Given the description of an element on the screen output the (x, y) to click on. 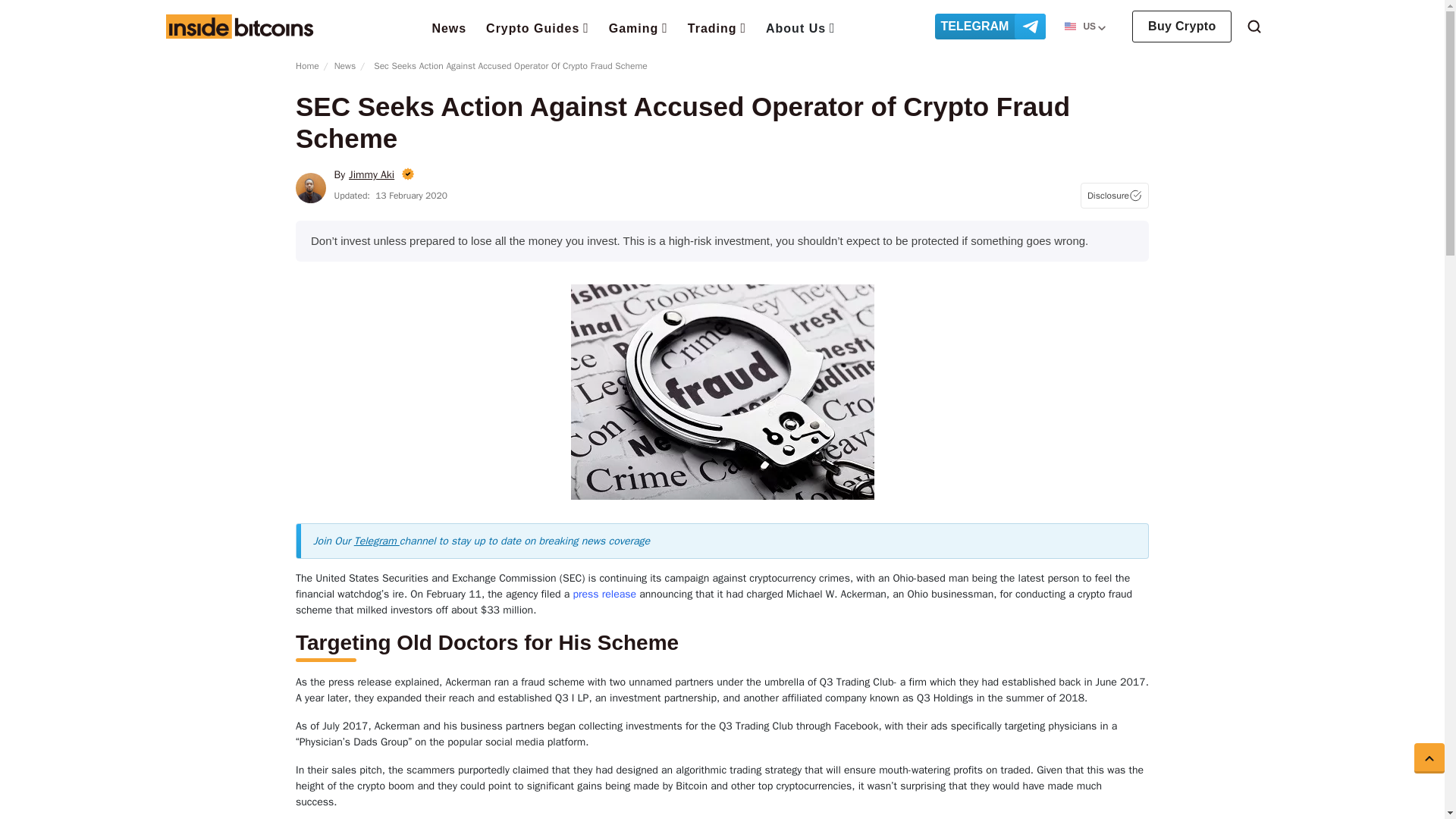
Crypto Guides (537, 26)
News (447, 26)
Home (239, 26)
